Given the description of an element on the screen output the (x, y) to click on. 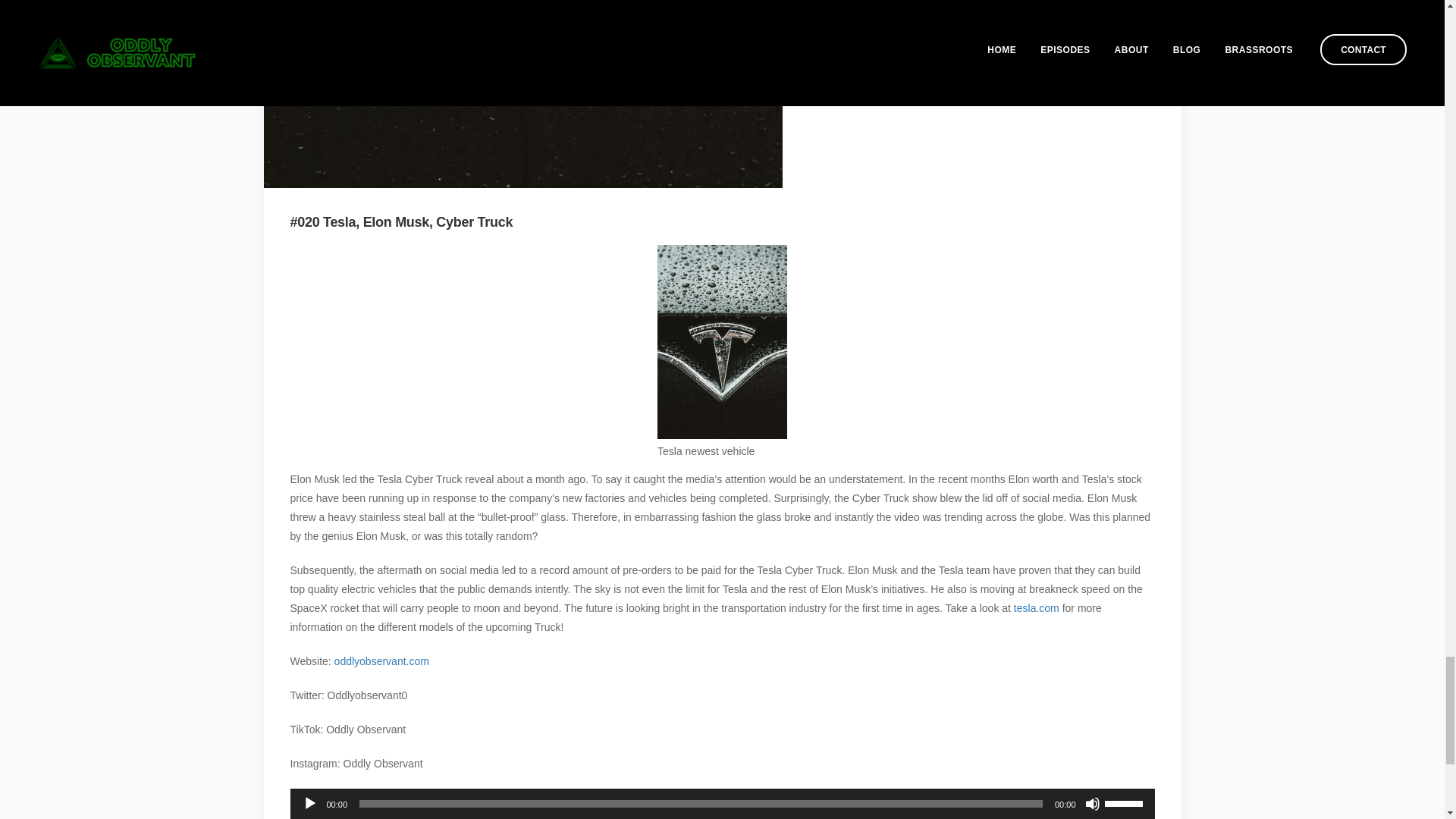
tesla.com (1036, 607)
